Given the description of an element on the screen output the (x, y) to click on. 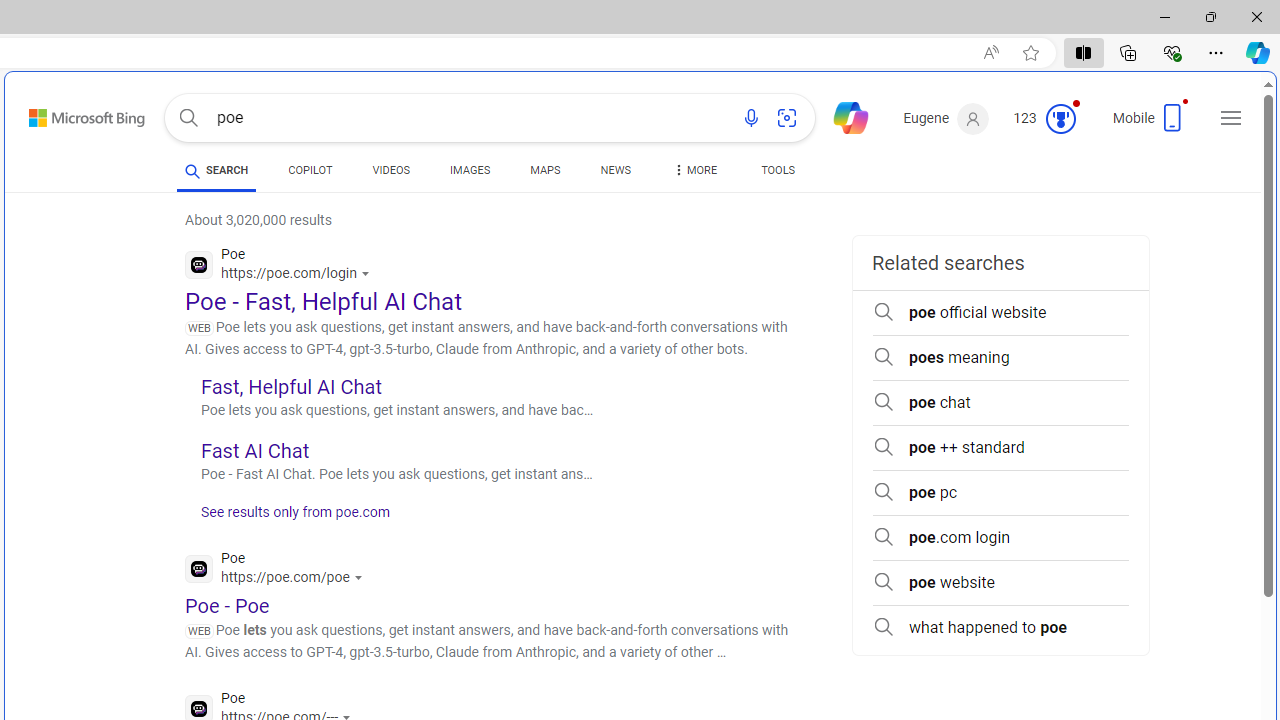
Poe - Fast, Helpful AI Chat (323, 301)
poe website (1000, 582)
COPILOT (310, 170)
Chat (842, 116)
Settings and quick links (1231, 117)
poe.com login (1000, 538)
Fast, Helpful AI Chat (290, 385)
Search using voice (751, 117)
MAPS (545, 170)
